Given the description of an element on the screen output the (x, y) to click on. 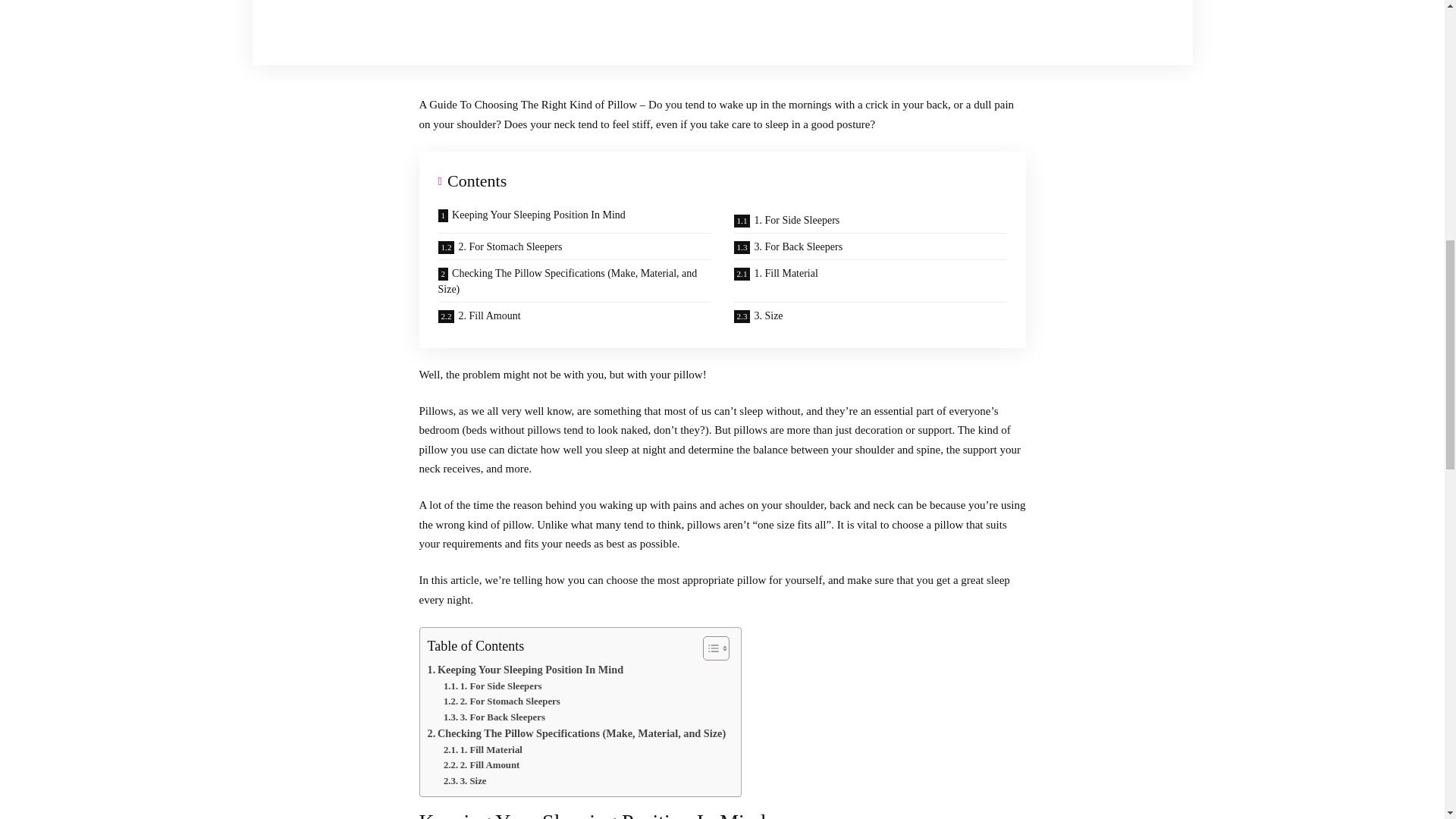
Keeping Your Sleeping Position In Mind (574, 220)
2. Fill Amount (481, 765)
3. Size (465, 781)
1. For Side Sleepers (869, 220)
1. For Side Sleepers (492, 686)
2. For Stomach Sleepers (502, 701)
2. For Stomach Sleepers (574, 246)
Keeping Your Sleeping Position In Mind (526, 669)
1. Fill Material (483, 750)
3. For Back Sleepers (494, 717)
